Given the description of an element on the screen output the (x, y) to click on. 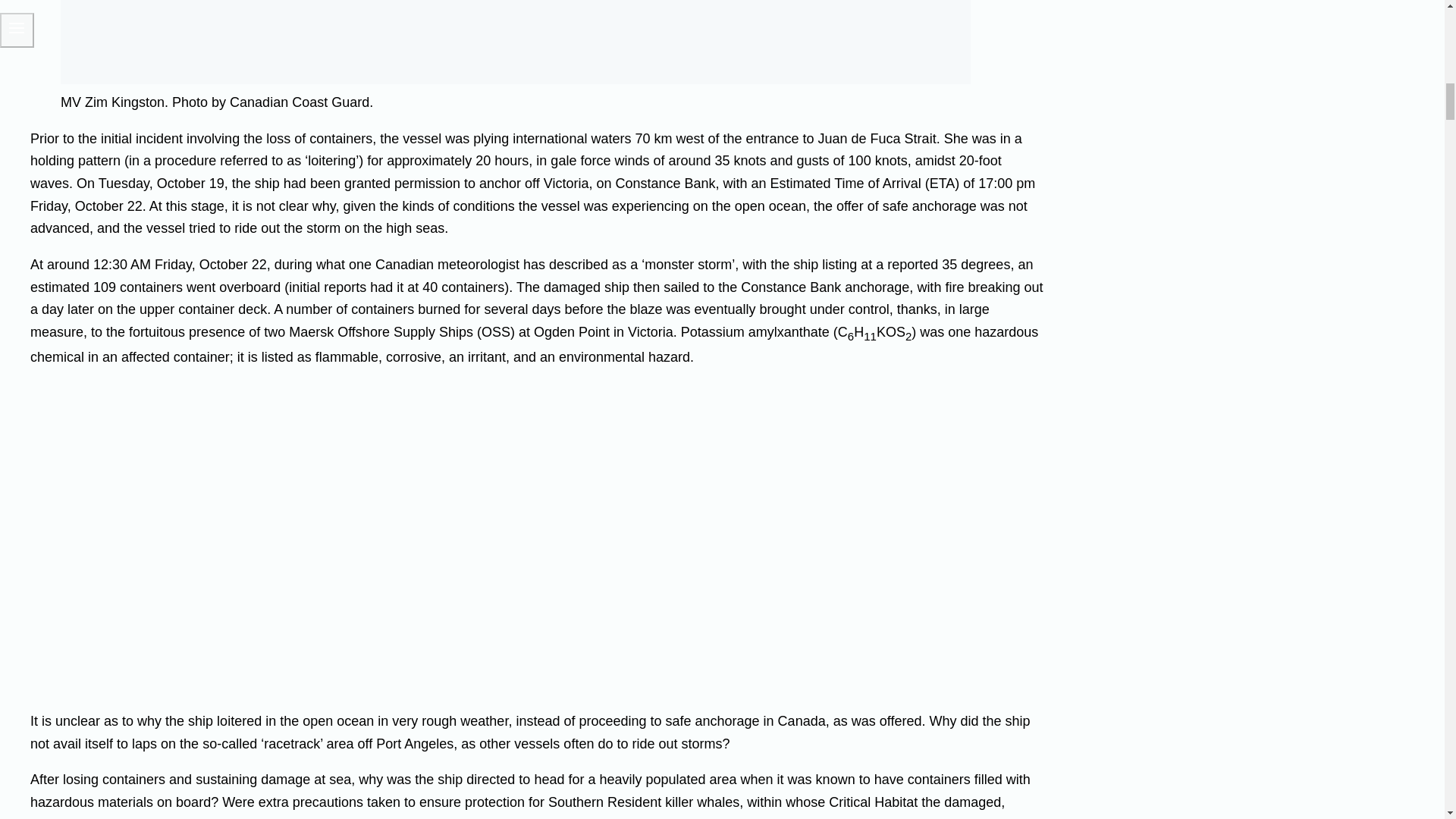
Toggle Menu (16, 29)
Toggle Menu (16, 27)
